Given the description of an element on the screen output the (x, y) to click on. 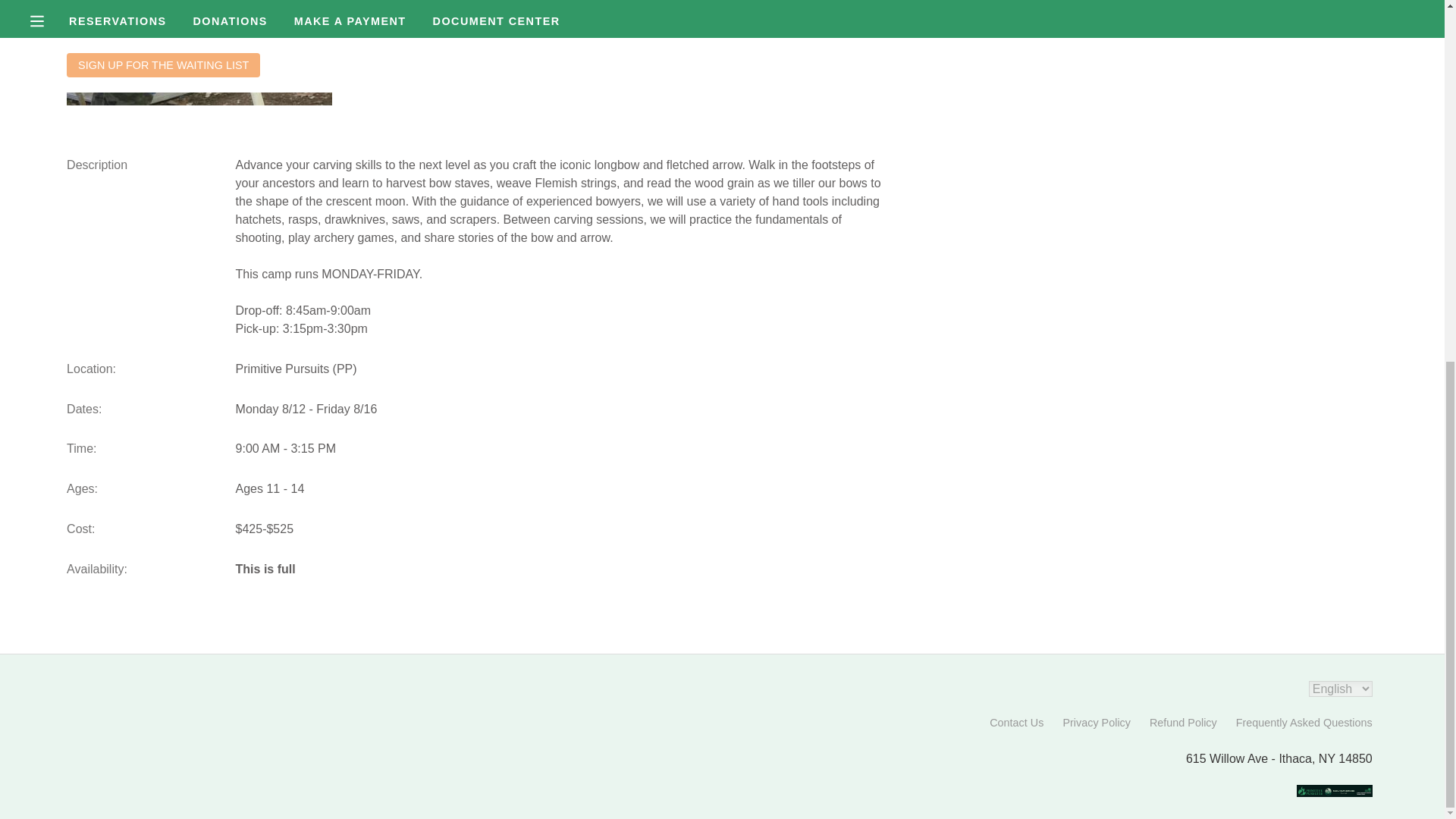
Refund Policy (1183, 722)
Privacy Policy (1096, 722)
Frequently Asked Questions (1304, 722)
Contact Us (1016, 722)
